Given the description of an element on the screen output the (x, y) to click on. 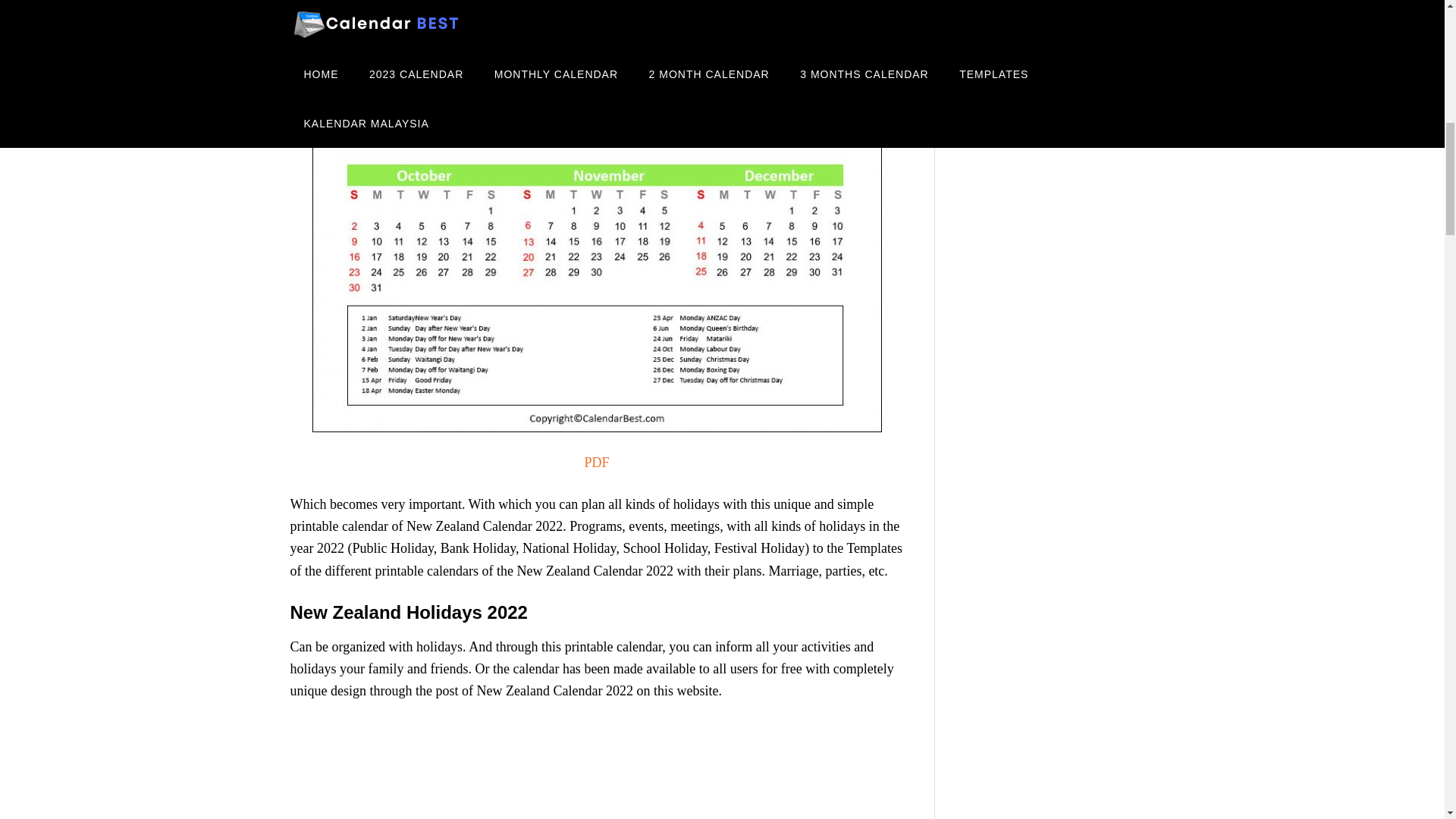
PDF (595, 462)
